Given the description of an element on the screen output the (x, y) to click on. 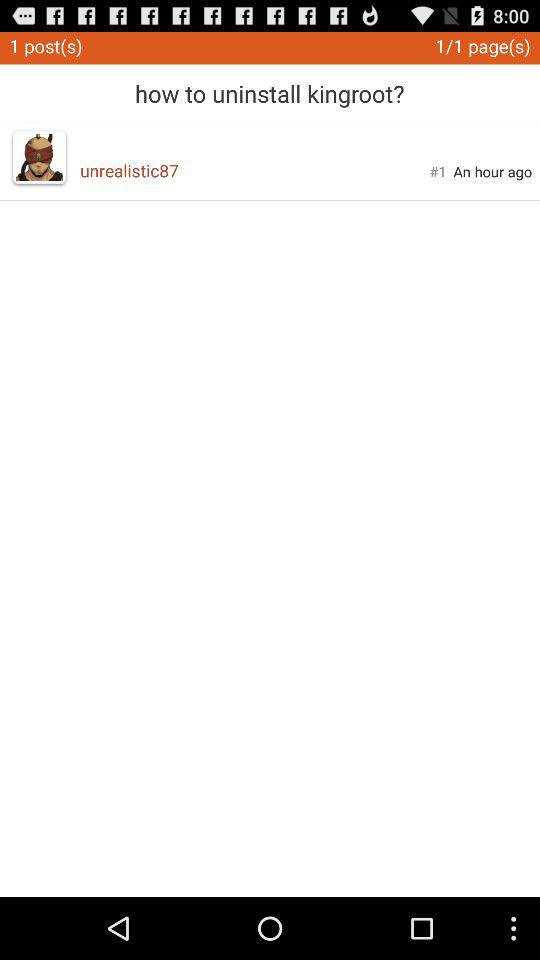
swipe to an hour ago item (492, 171)
